Given the description of an element on the screen output the (x, y) to click on. 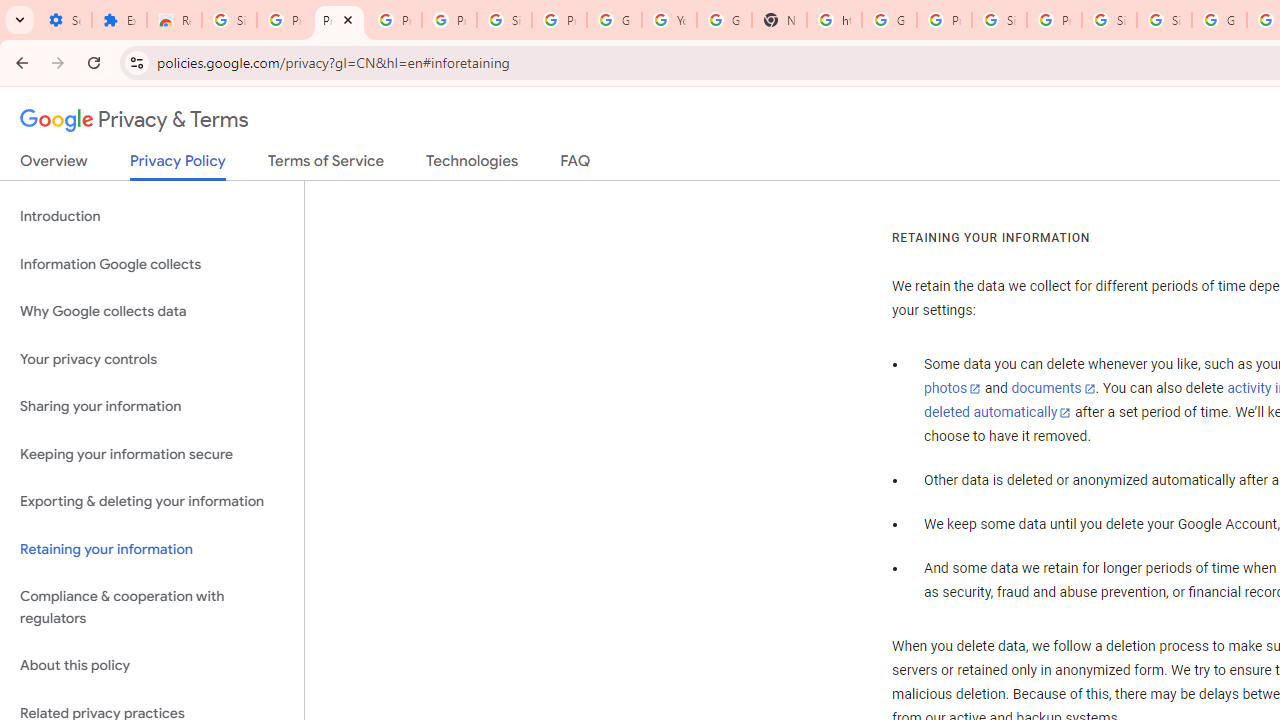
About this policy (152, 666)
Keeping your information secure (152, 453)
Sign in - Google Accounts (229, 20)
Compliance & cooperation with regulators (152, 607)
